Given the description of an element on the screen output the (x, y) to click on. 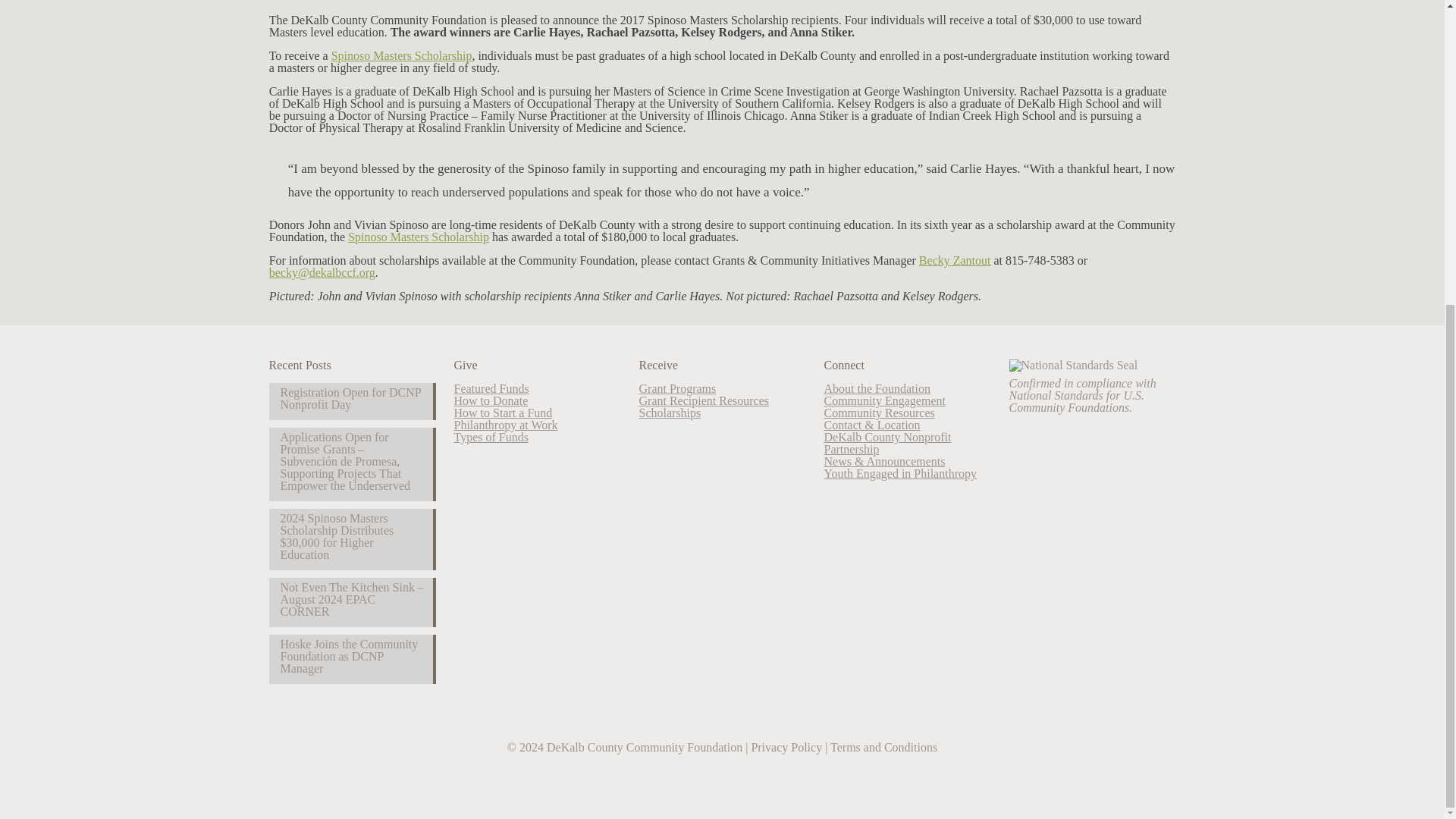
Facebook (705, 767)
YouTube (722, 767)
LinkedIn (738, 767)
